Given the description of an element on the screen output the (x, y) to click on. 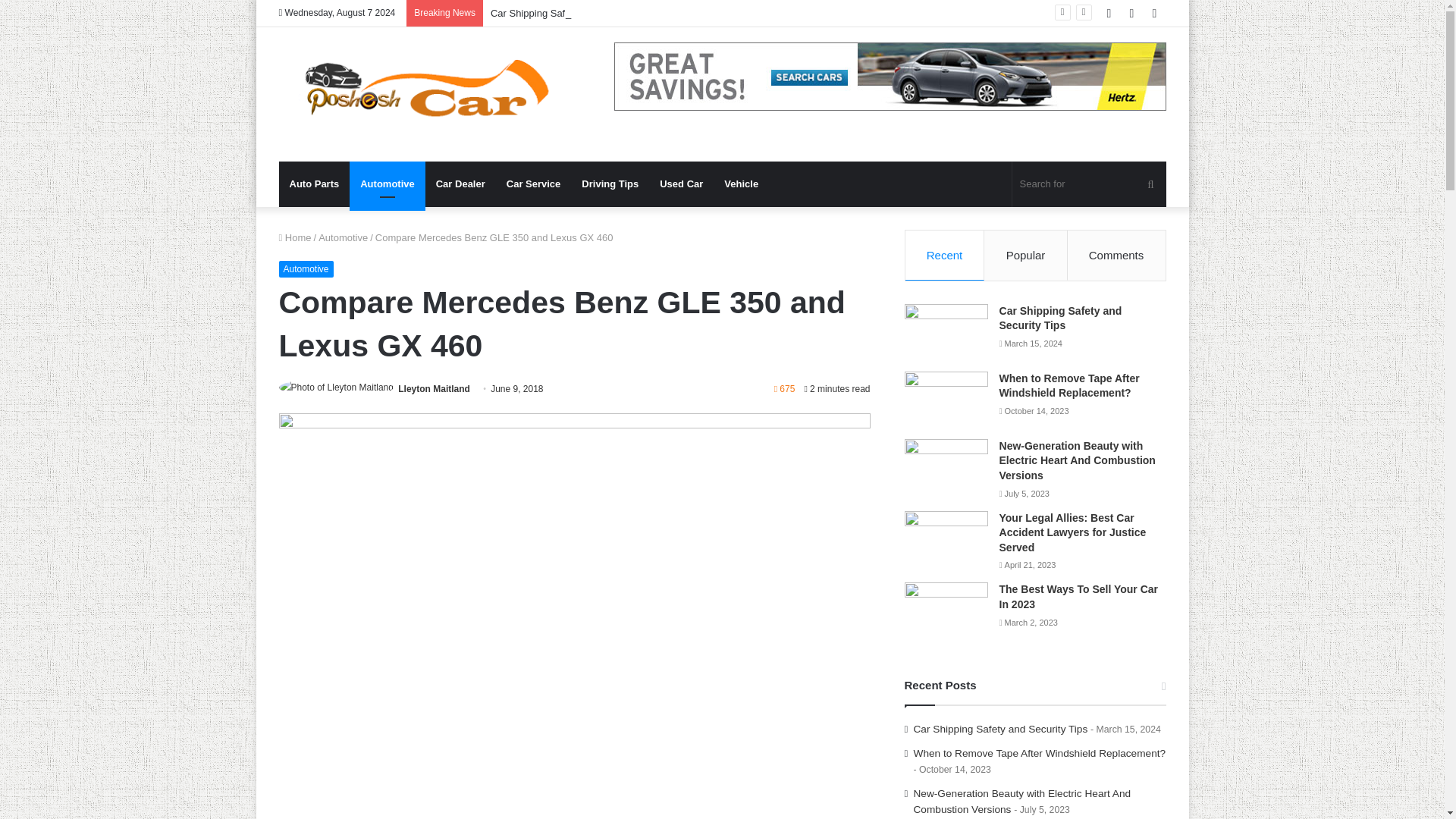
Automotive (306, 269)
Random Article (1131, 13)
Random Article (1131, 13)
Lleyton Maitland (433, 388)
Sidebar (1154, 13)
Automotive (387, 184)
Driving Tips (609, 184)
Car Service (534, 184)
Search for (1150, 184)
Lleyton Maitland (433, 388)
Auto Parts (314, 184)
Search for (1088, 184)
Vehicle (740, 184)
Log In (1109, 13)
